Given the description of an element on the screen output the (x, y) to click on. 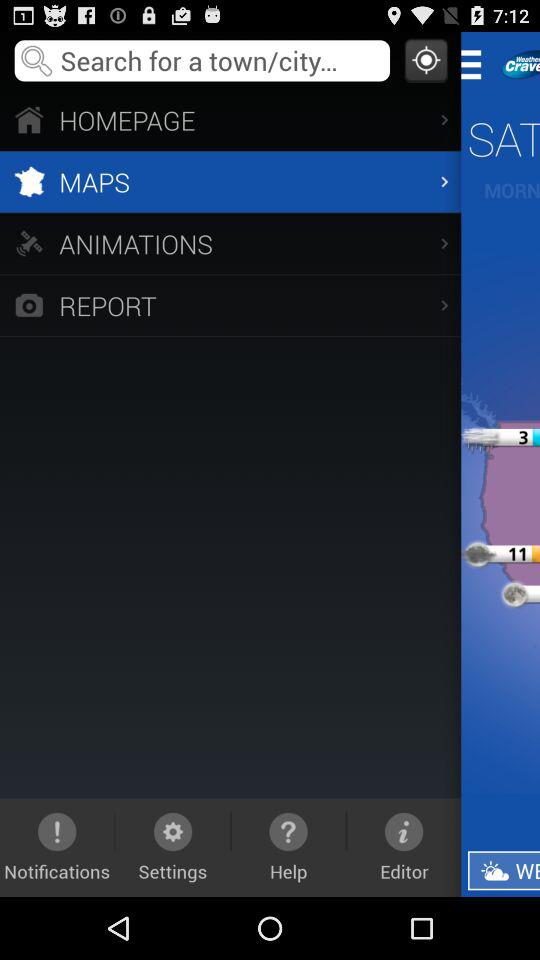
choose the settings icon (172, 847)
